Given the description of an element on the screen output the (x, y) to click on. 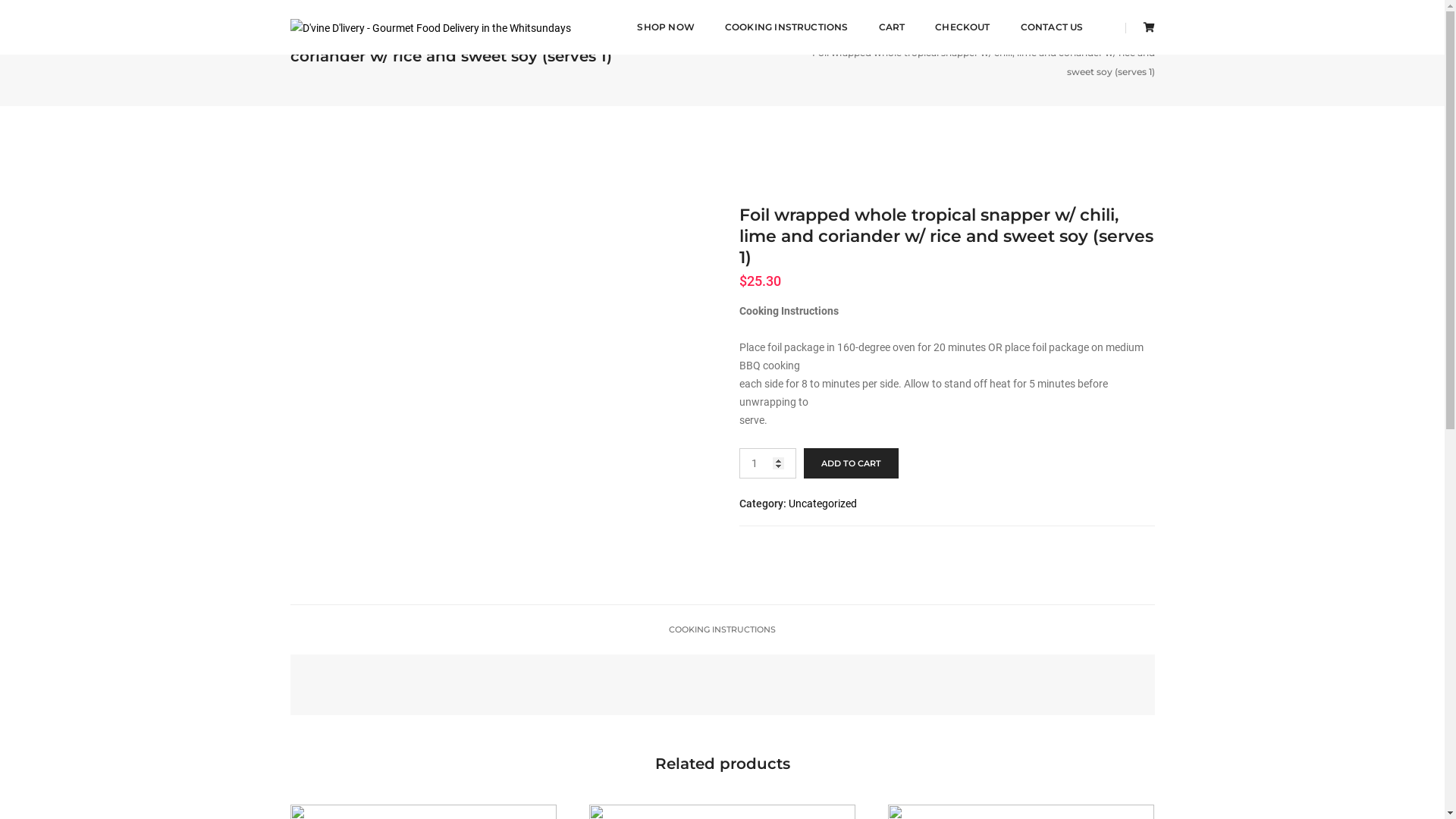
Home Element type: text (1024, 37)
Uncategorized Element type: text (1096, 37)
CART Element type: text (891, 27)
D'vine D'livery - Gourmet Food Delivery in the Whitsundays Element type: hover (429, 26)
SHOP NOW Element type: text (665, 27)
COOKING INSTRUCTIONS Element type: text (722, 629)
ADD TO CART Element type: text (850, 463)
COOKING INSTRUCTIONS Element type: text (786, 27)
Uncategorized Element type: text (822, 503)
CONTACT US Element type: text (1051, 27)
CHECKOUT Element type: text (962, 27)
